Given the description of an element on the screen output the (x, y) to click on. 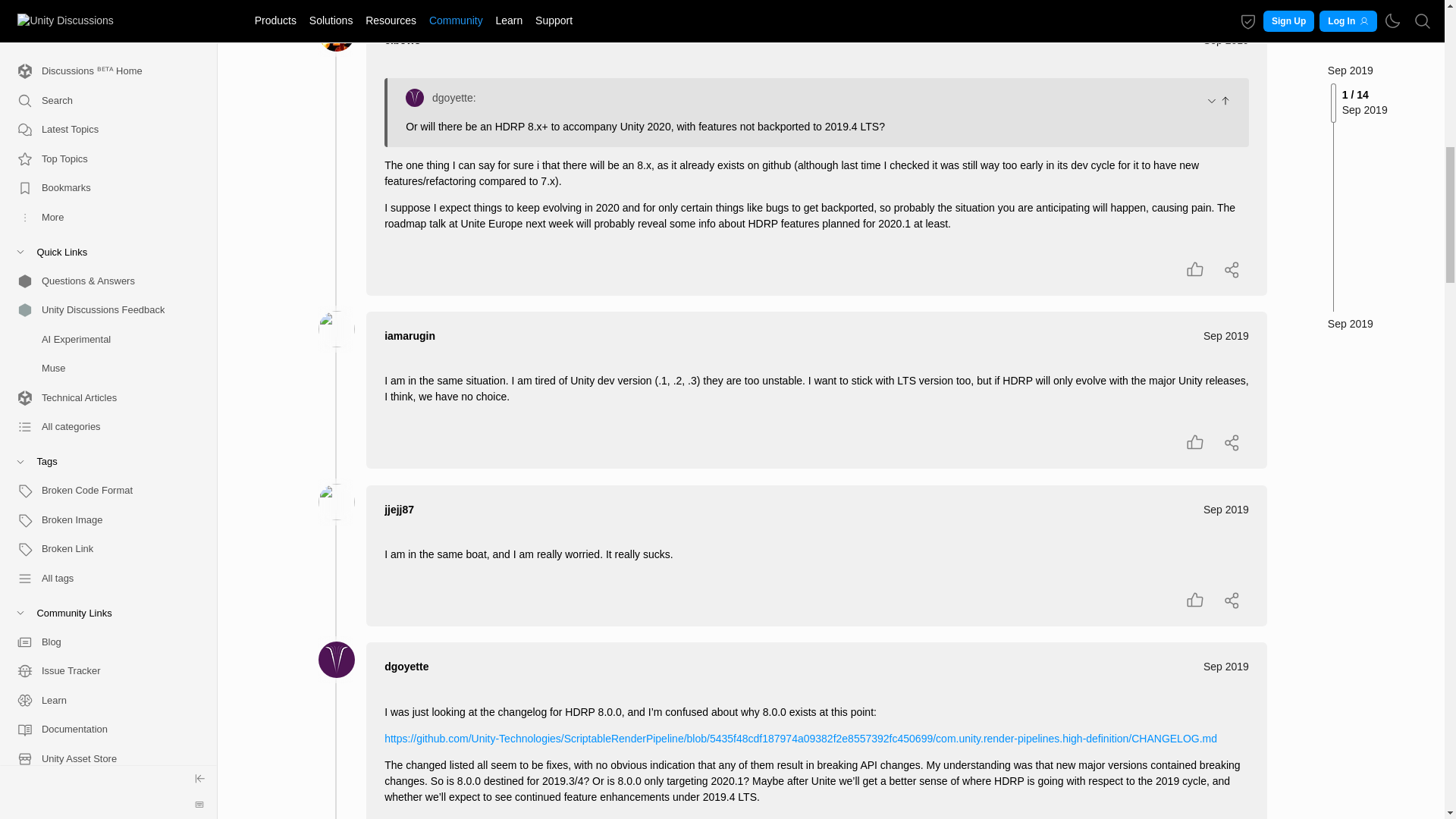
Play (102, 143)
Instagram (102, 289)
Twitch (102, 319)
Unity Pulse (102, 27)
Events (102, 56)
Made with Unity (102, 114)
Advocates (102, 6)
Discord (102, 261)
X (102, 231)
YouTube (102, 202)
